Given the description of an element on the screen output the (x, y) to click on. 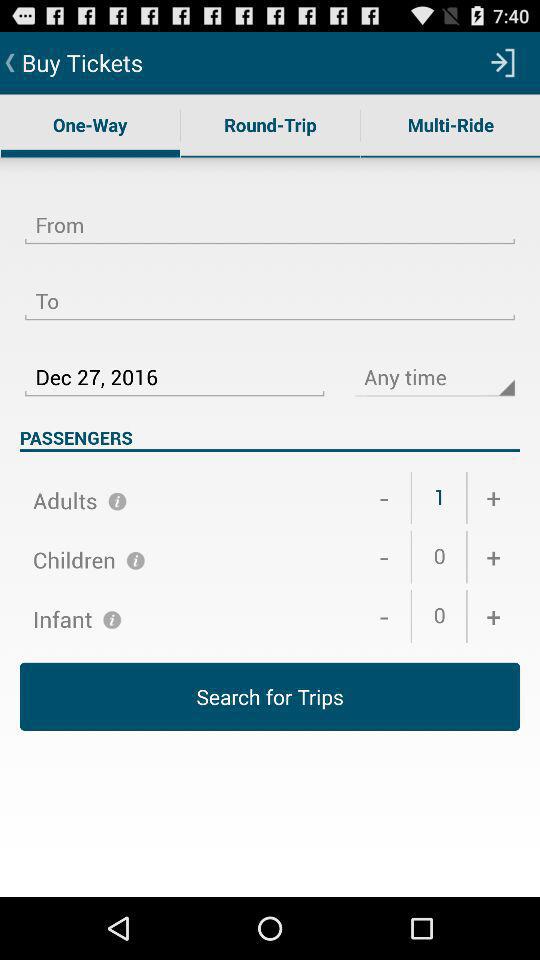
swipe to the - icon (384, 616)
